Given the description of an element on the screen output the (x, y) to click on. 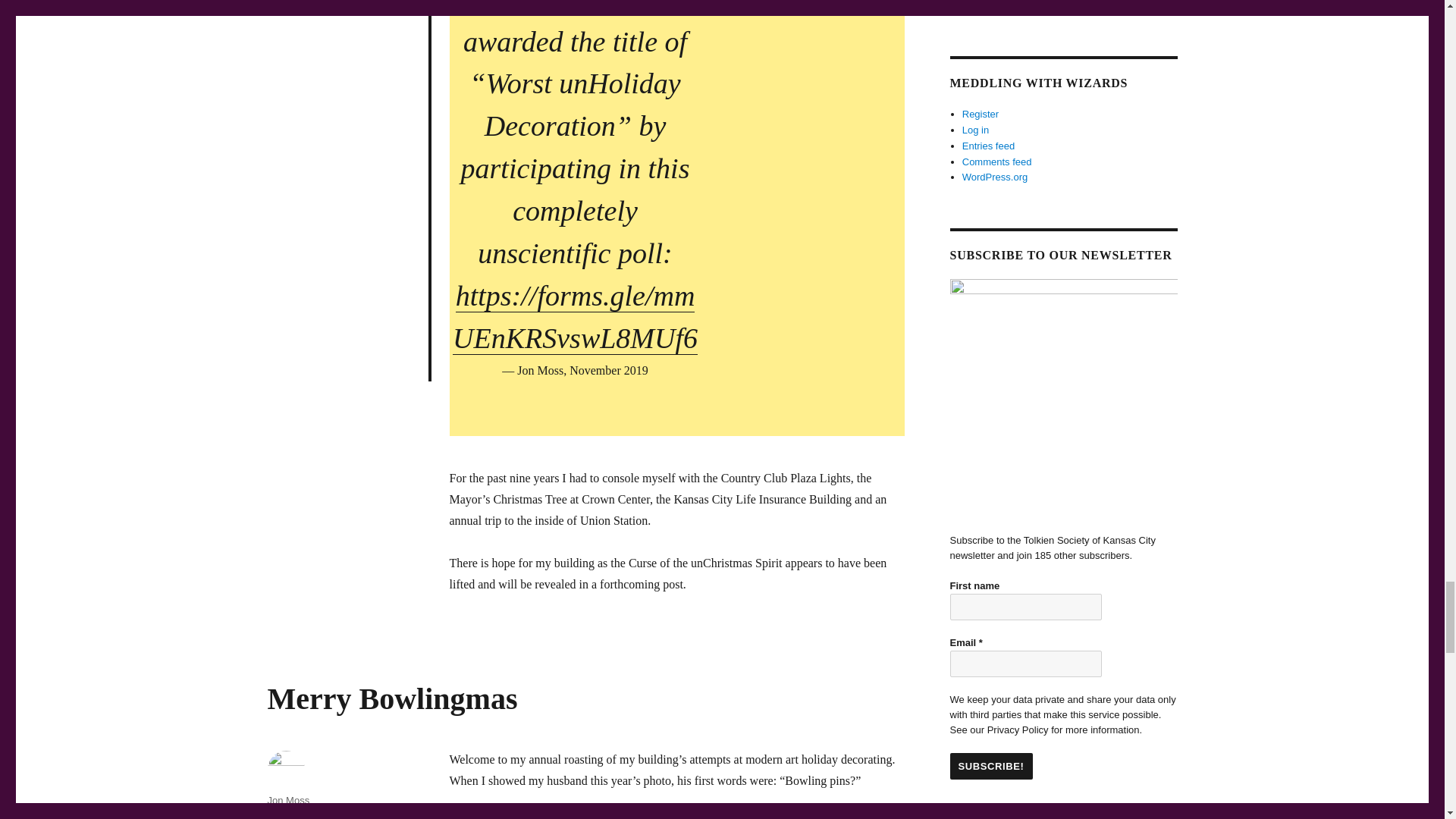
Email (1024, 663)
First name (1024, 606)
Subscribe! (990, 765)
